Given the description of an element on the screen output the (x, y) to click on. 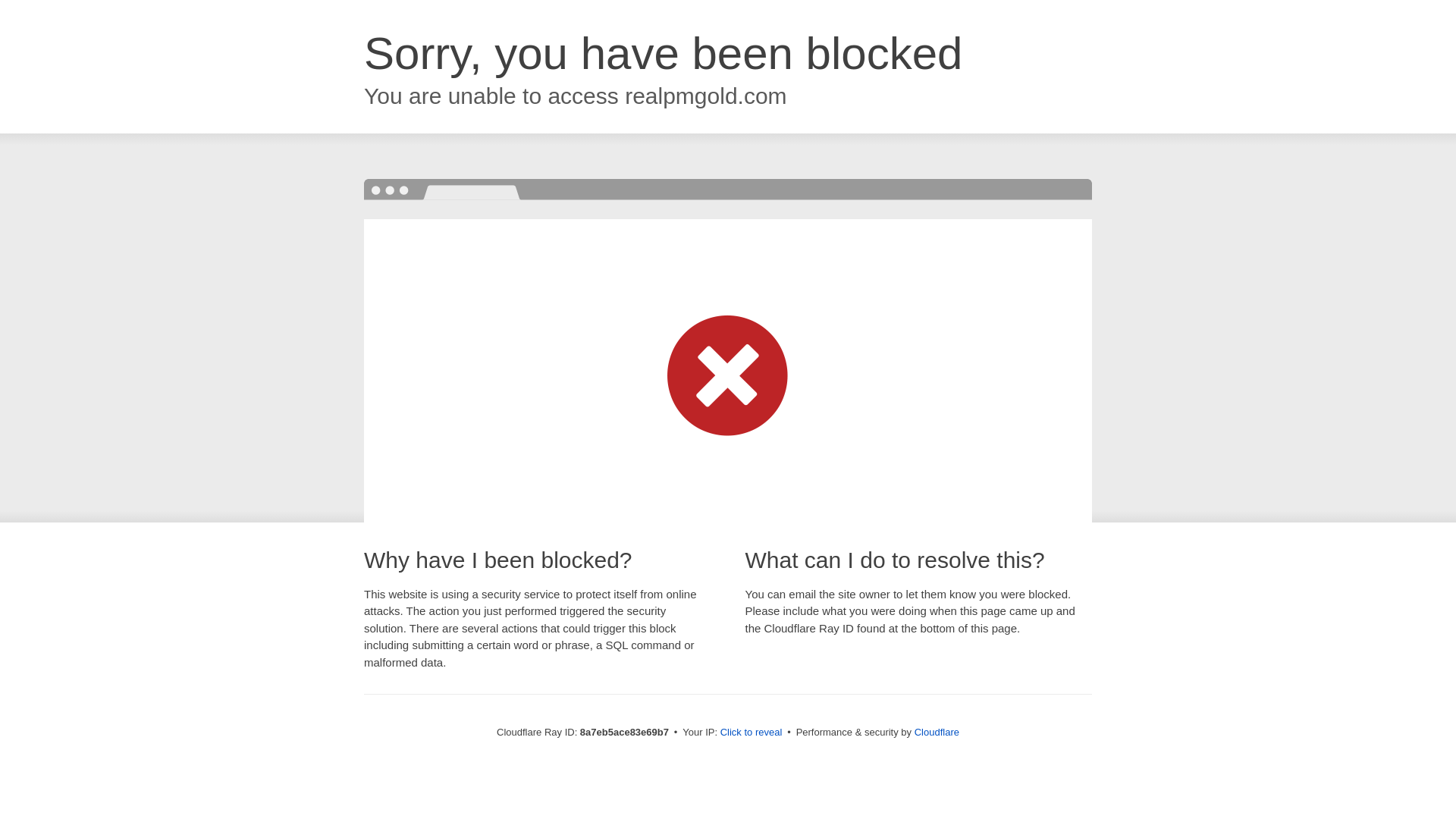
Cloudflare (936, 731)
Click to reveal (751, 732)
